Given the description of an element on the screen output the (x, y) to click on. 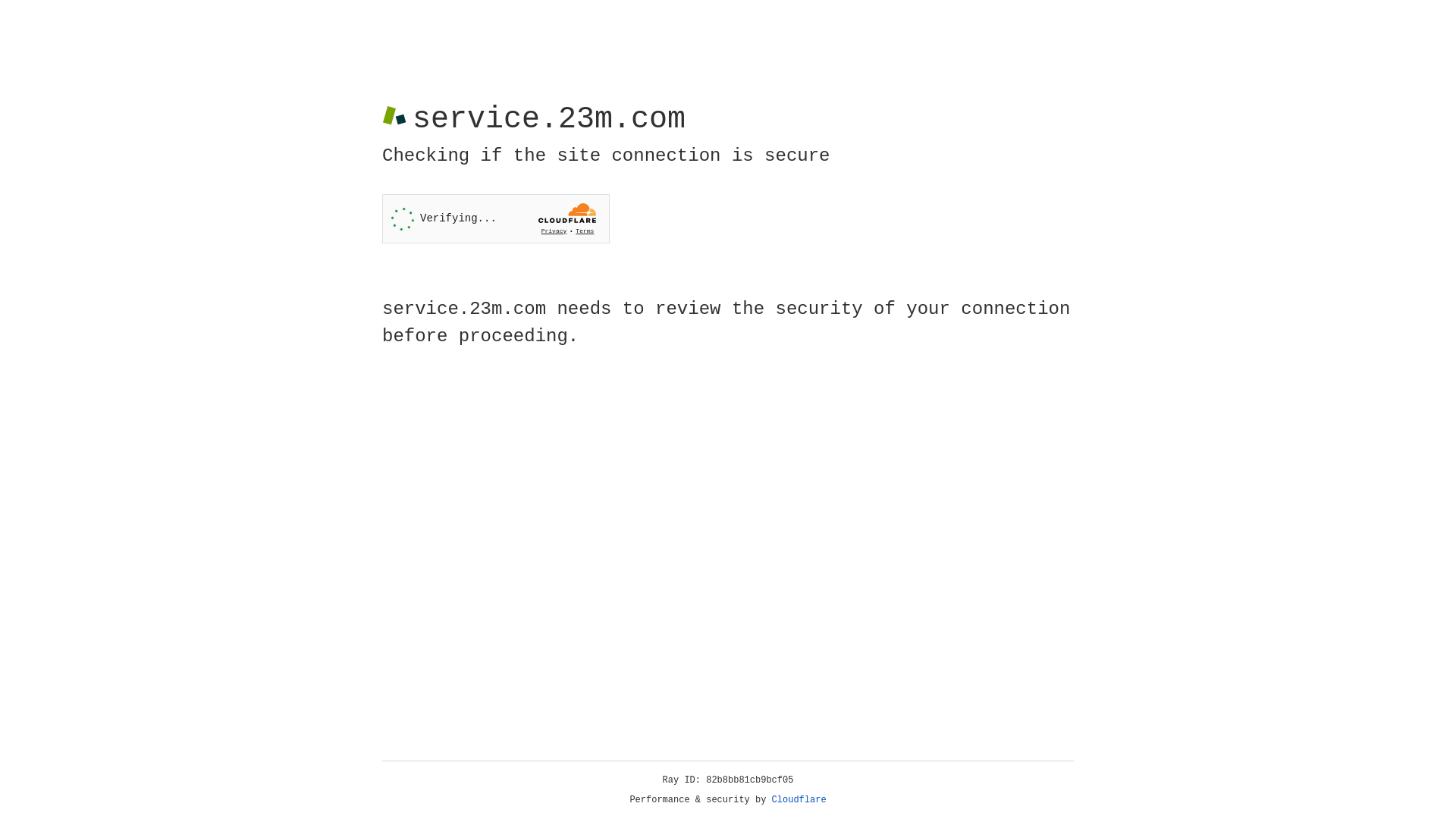
Cloudflare Element type: text (798, 799)
Widget containing a Cloudflare security challenge Element type: hover (495, 218)
